Given the description of an element on the screen output the (x, y) to click on. 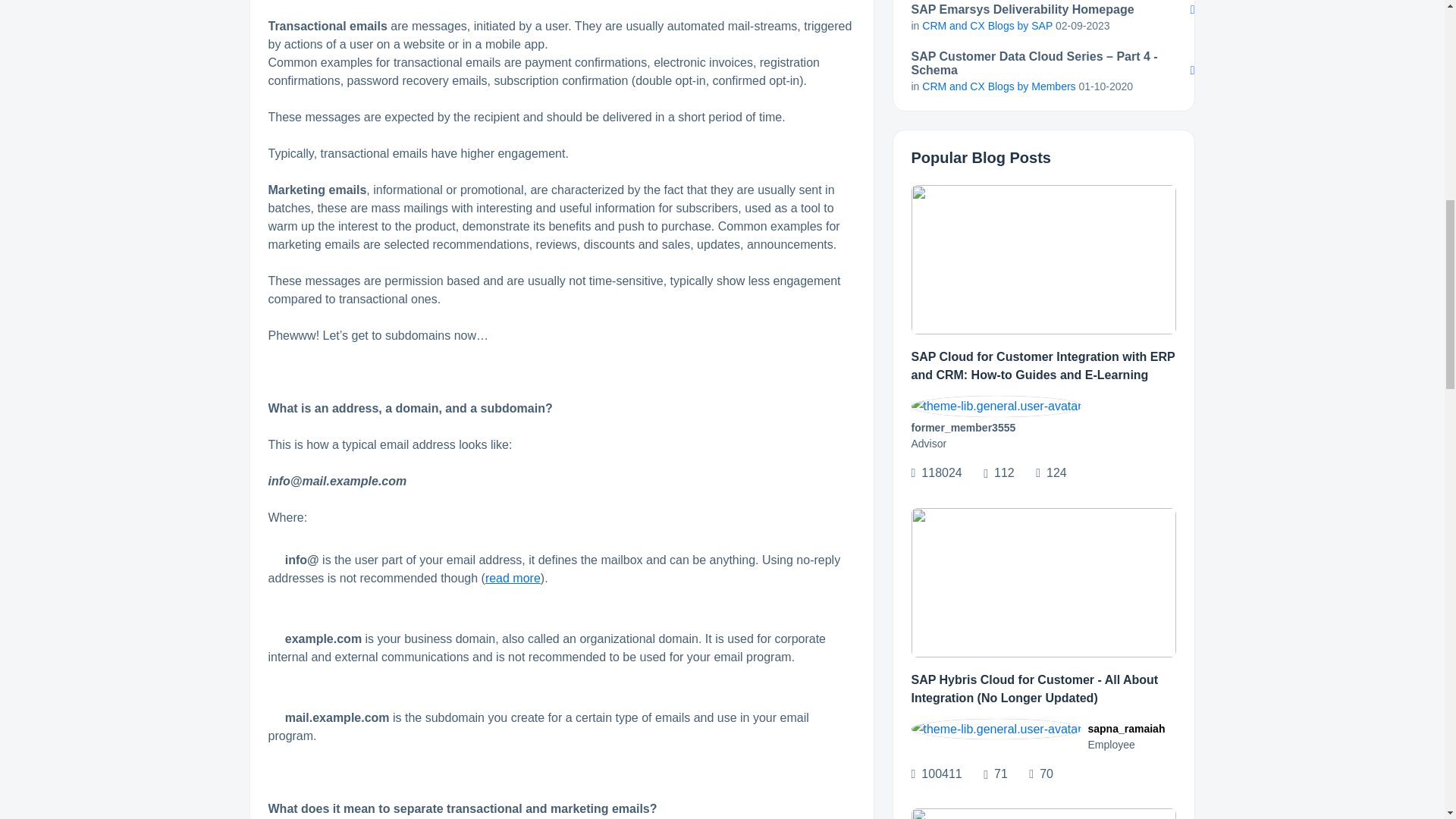
read more (512, 577)
